Given the description of an element on the screen output the (x, y) to click on. 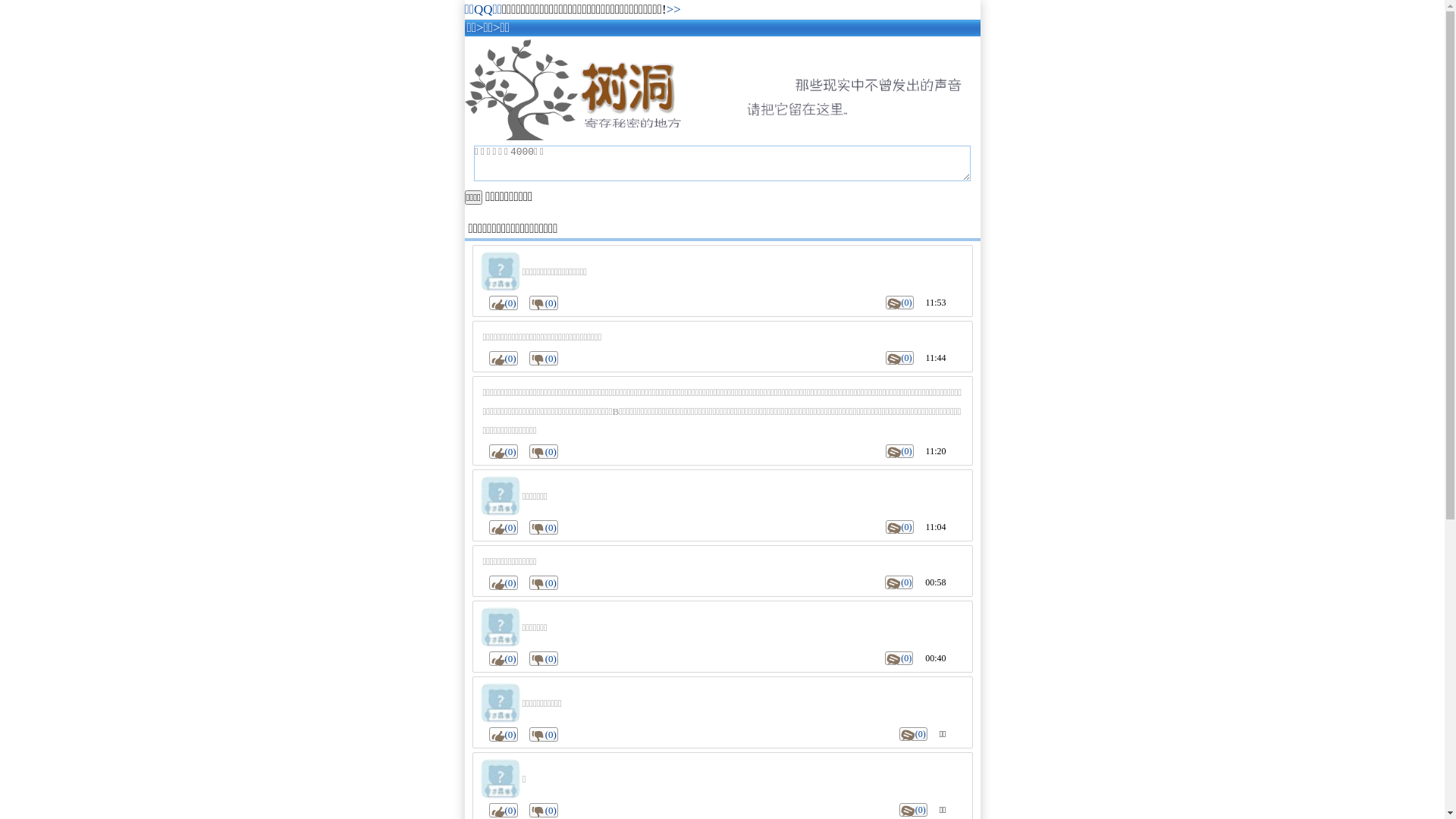
(0) Element type: text (543, 810)
(0) Element type: text (543, 302)
(0) Element type: text (899, 526)
(0) Element type: text (898, 657)
(0) Element type: text (912, 733)
(0) Element type: text (543, 358)
(0) Element type: text (899, 357)
(0) Element type: text (502, 582)
(0) Element type: text (502, 302)
(0) Element type: text (898, 582)
(0) Element type: text (502, 451)
(0) Element type: text (543, 451)
(0) Element type: text (543, 527)
(0) Element type: text (502, 527)
(0) Element type: text (502, 358)
(0) Element type: text (502, 734)
>> Element type: text (673, 9)
(0) Element type: text (543, 582)
(0) Element type: text (543, 658)
(0) Element type: text (502, 810)
(0) Element type: text (502, 658)
(0) Element type: text (899, 302)
(0) Element type: text (912, 809)
(0) Element type: text (899, 450)
(0) Element type: text (543, 734)
